Given the description of an element on the screen output the (x, y) to click on. 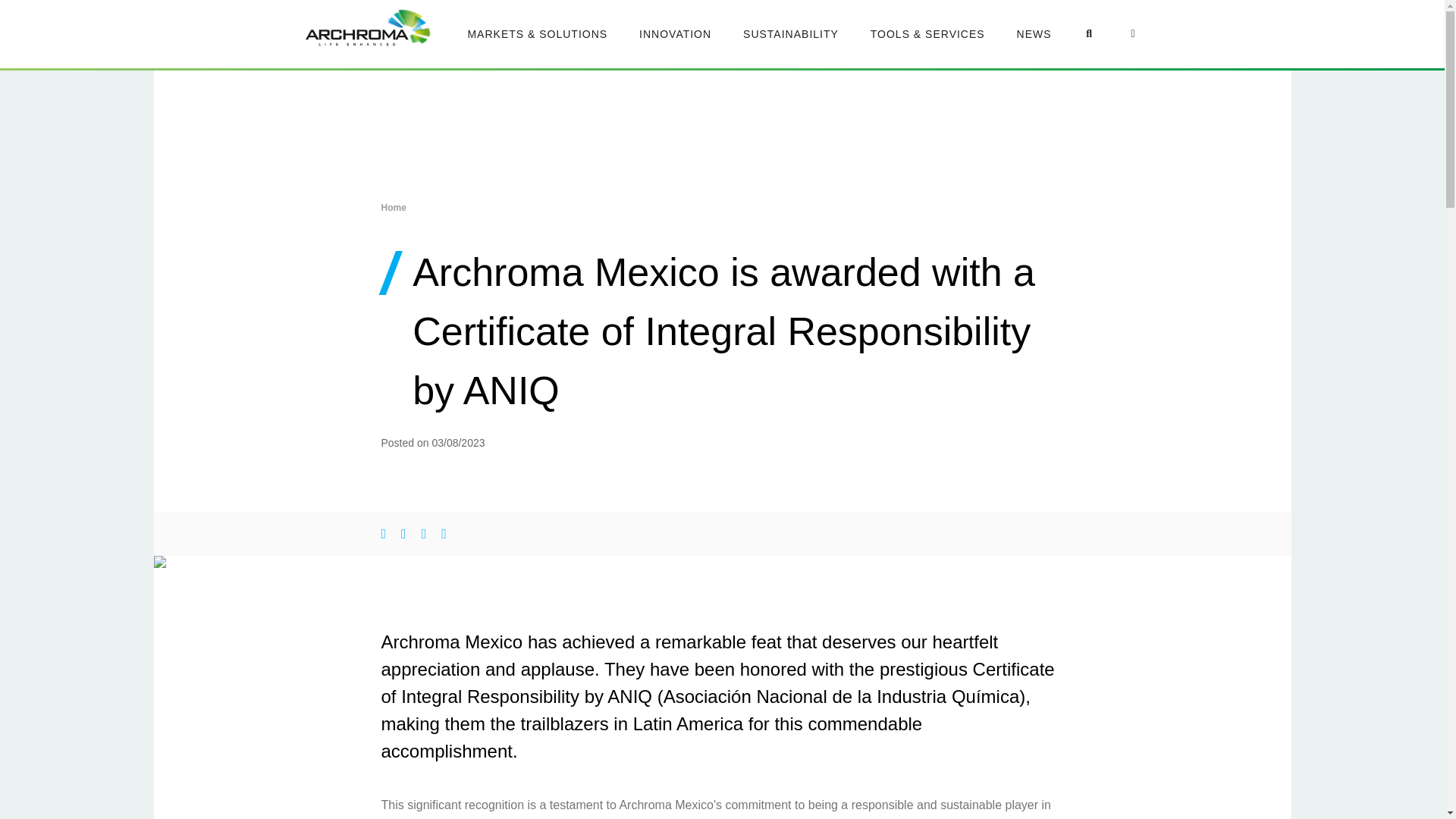
Share on Facebook (403, 533)
INNOVATION (675, 33)
Home (393, 207)
Copy Link (443, 533)
NEWS (1033, 33)
SUSTAINABILITY (790, 33)
Share on LinkedIn (424, 533)
Share on Twitter (382, 533)
